Given the description of an element on the screen output the (x, y) to click on. 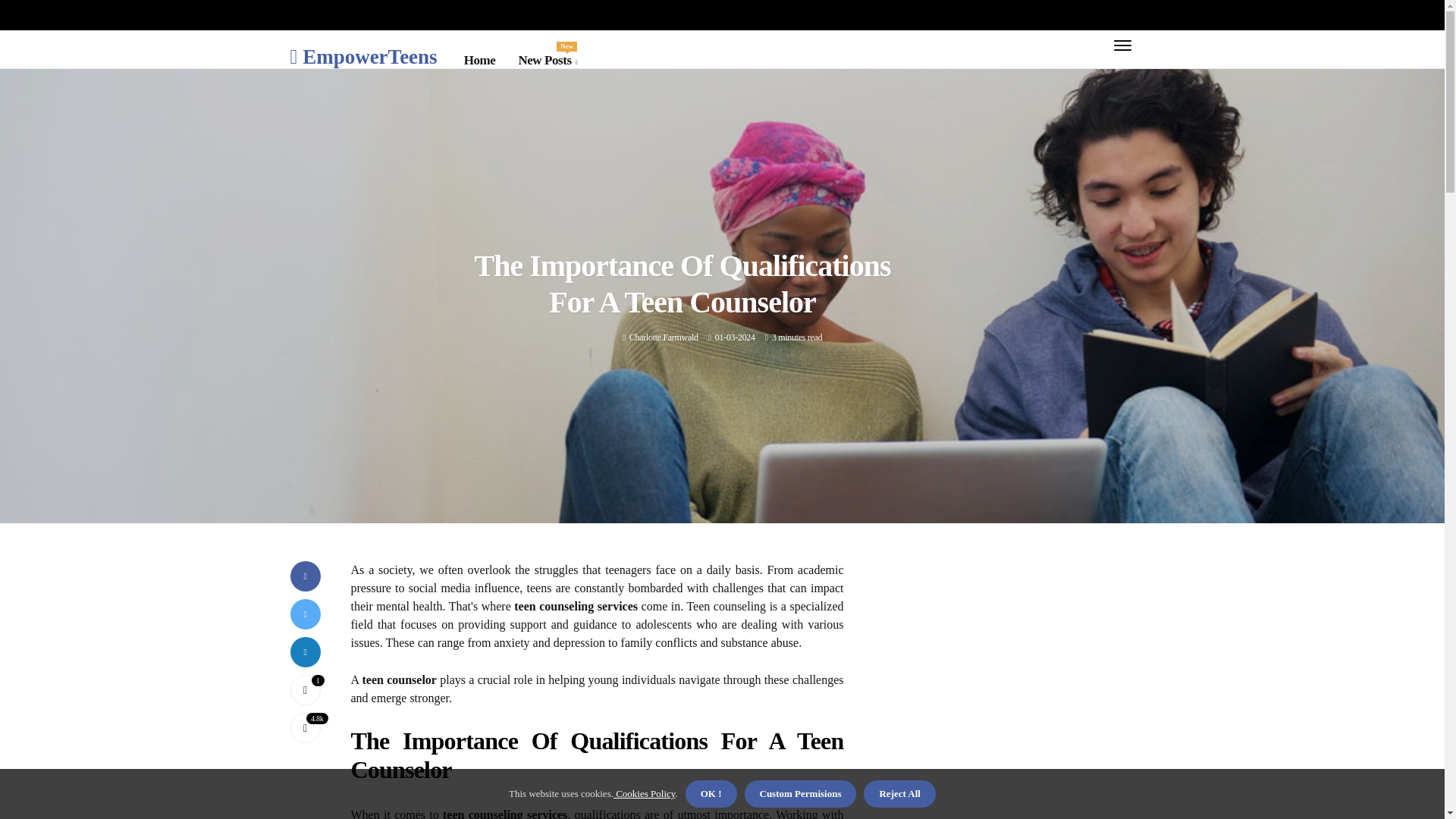
Posts by Charlotte Farmwald (663, 337)
EmpowerTeens (362, 56)
Charlotte Farmwald (663, 337)
Like (304, 689)
1 (547, 60)
